Given the description of an element on the screen output the (x, y) to click on. 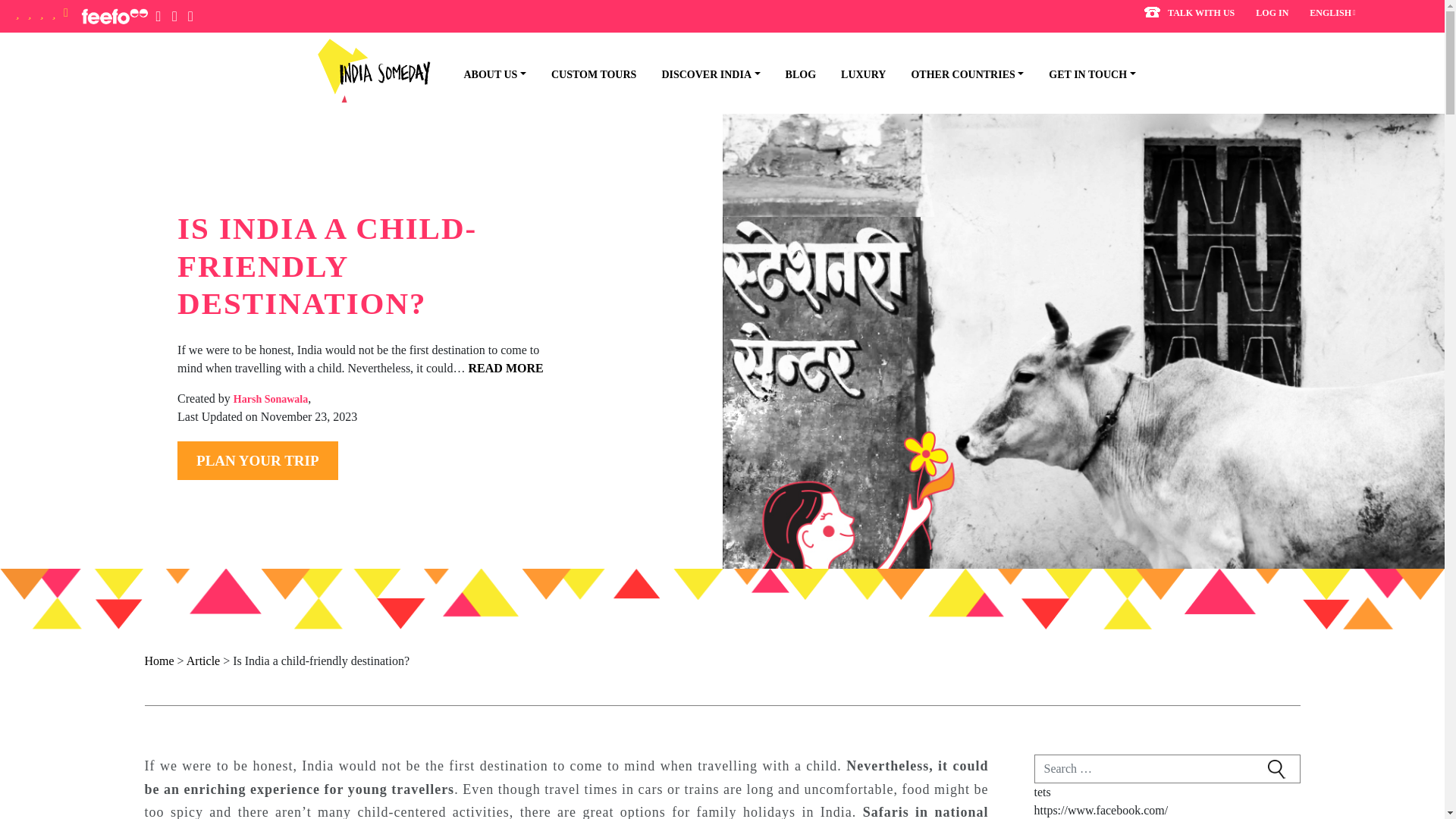
LOG IN (1271, 12)
ABOUT US (485, 74)
Harsh Sonawala (269, 398)
OTHER COUNTRIES (958, 74)
BLOG (791, 74)
LUXURY (854, 74)
DISCOVER INDIA (701, 74)
READ MORE (505, 367)
TALK WITH US (1189, 13)
4.8 rating based on 1,234 ratings (41, 15)
